Given the description of an element on the screen output the (x, y) to click on. 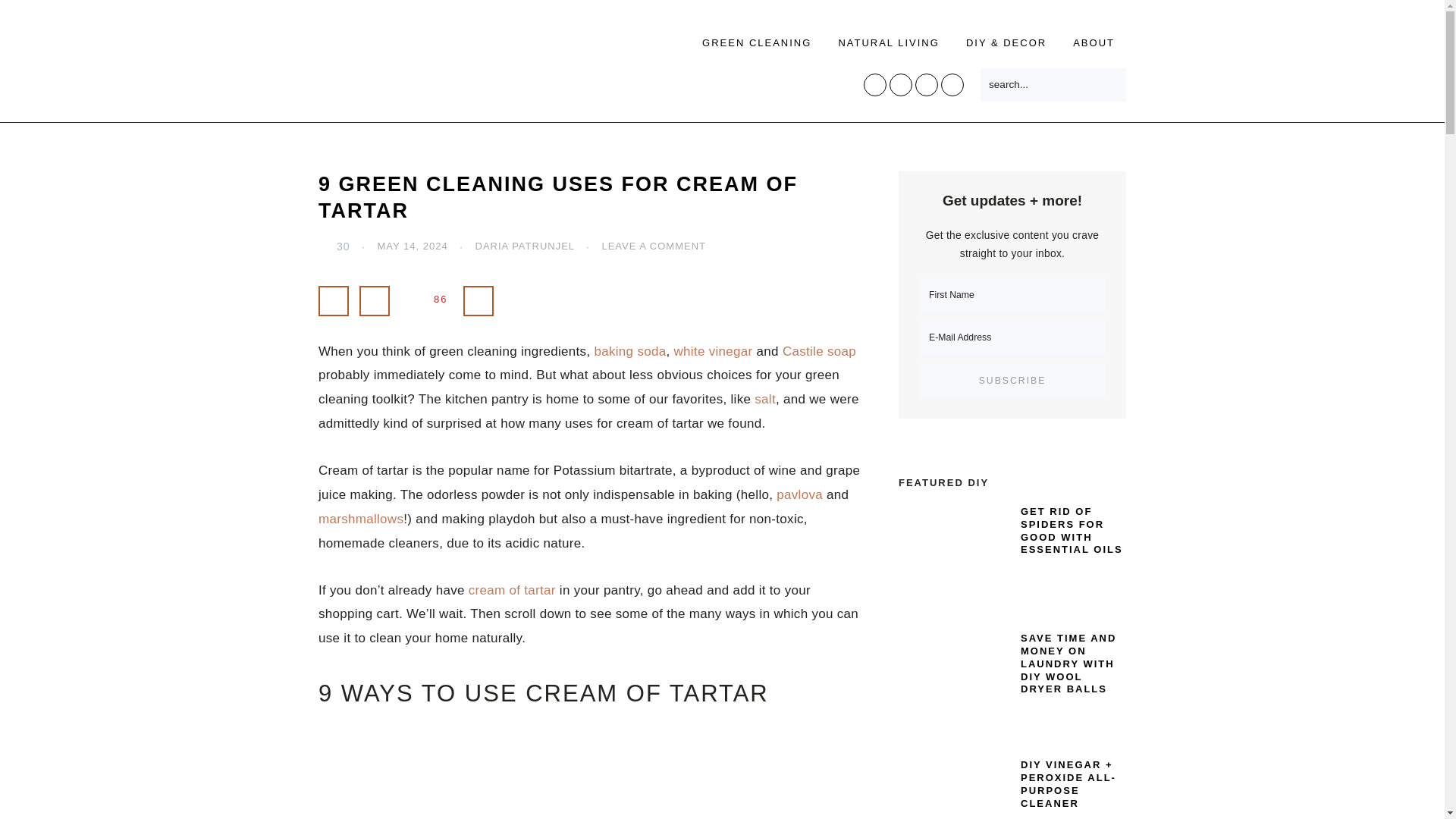
30 (334, 246)
salt (765, 399)
white vinegar (712, 350)
Share on Facebook (333, 300)
DARIA PATRUNJEL (525, 246)
Save to Pinterest (426, 300)
LEAVE A COMMENT (653, 246)
Send over email (478, 300)
Hello Nest (447, 41)
